Given the description of an element on the screen output the (x, y) to click on. 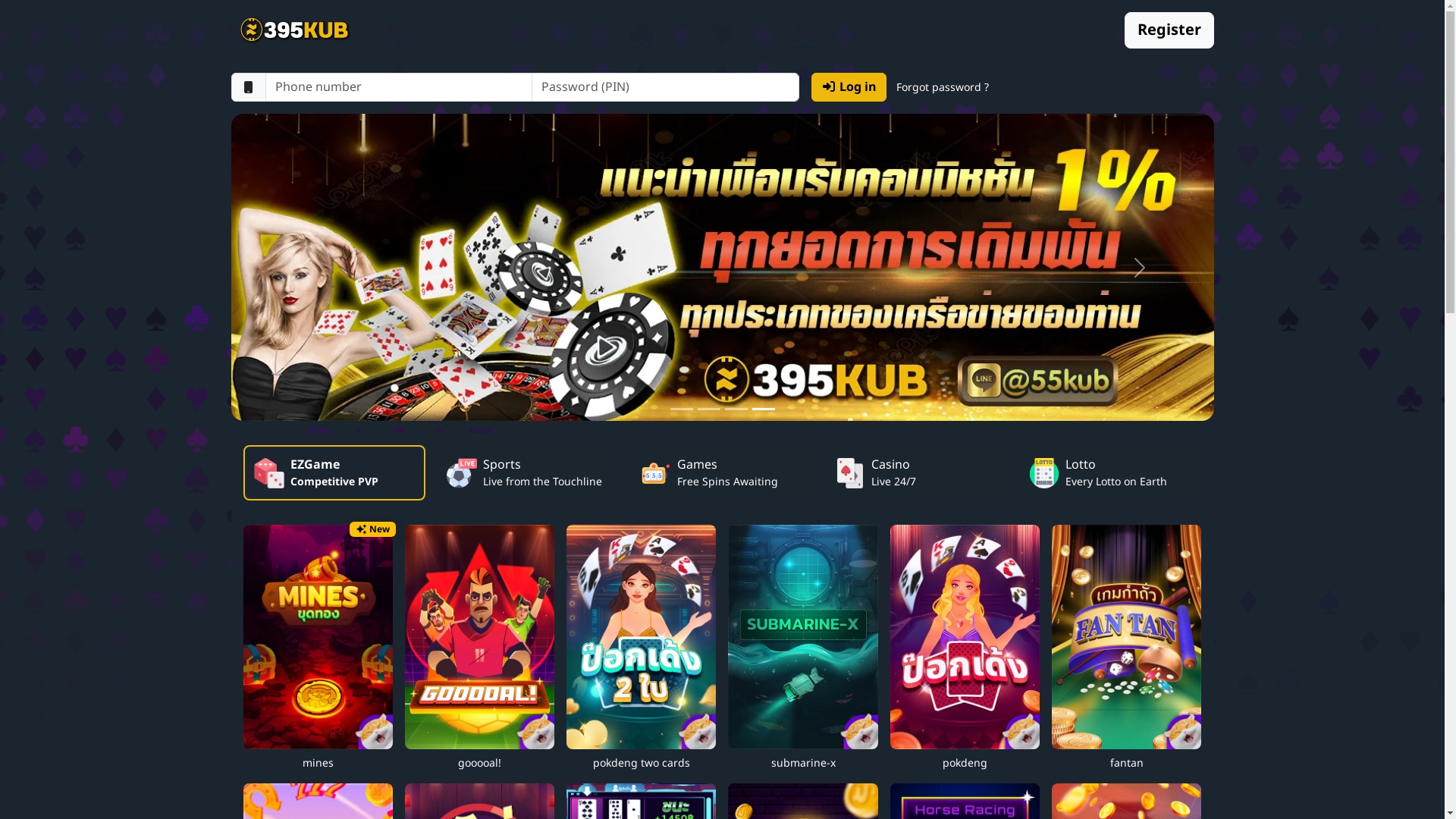
Forgot password ? Element type: text (942, 86)
EZGame
Competitive PVP Element type: text (333, 472)
submarine-x Element type: text (802, 647)
Log in Element type: text (848, 86)
gooooal! Element type: text (479, 647)
New
mines Element type: text (317, 647)
Games
Free Spins Awaiting Element type: text (721, 472)
Casino
Live 24/7 Element type: text (916, 472)
Next Element type: text (1139, 266)
fantan Element type: text (1126, 647)
pokdeng Element type: text (964, 647)
Register Element type: text (1168, 30)
Previous Element type: text (303, 266)
Lotto
Every Lotto on Earth Element type: text (1110, 472)
pokdeng two cards Element type: text (640, 647)
Sports
Live from the Touchline Element type: text (527, 472)
